Given the description of an element on the screen output the (x, y) to click on. 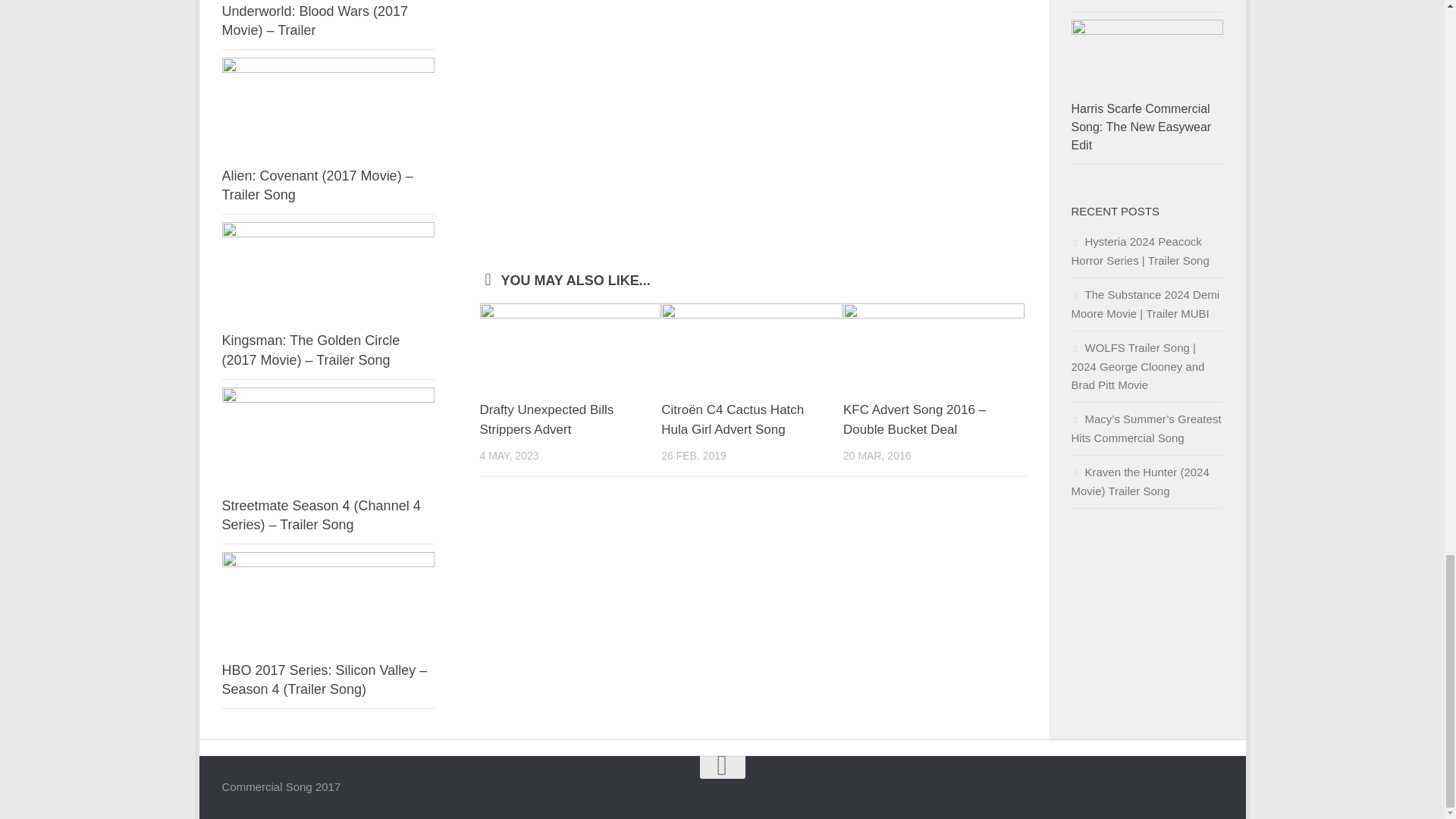
Drafty Unexpected Bills Strippers Advert (545, 419)
Drafty Unexpected Bills Strippers Advert (570, 345)
Drafty Unexpected Bills Strippers Advert (545, 419)
